Given the description of an element on the screen output the (x, y) to click on. 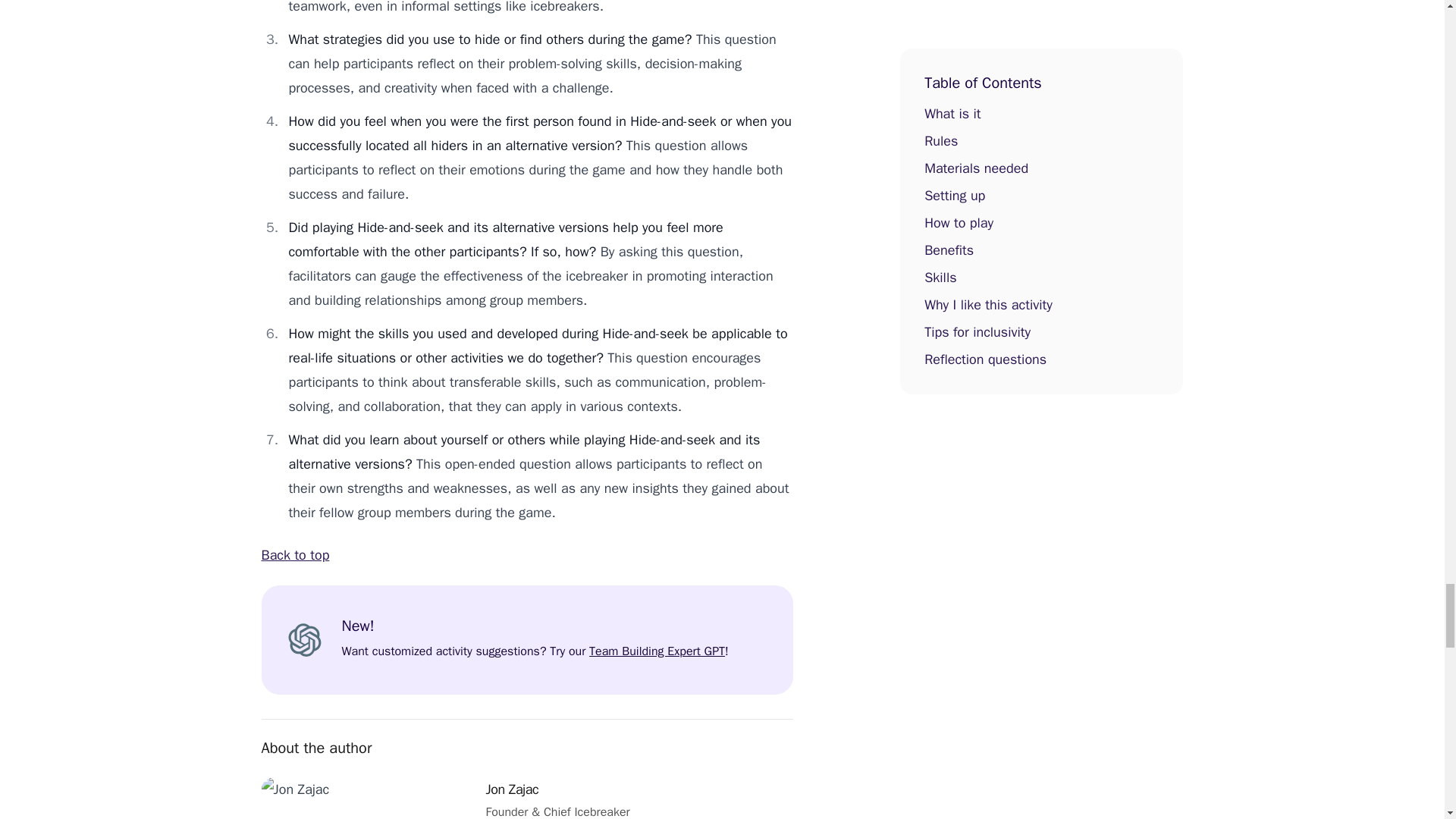
Jon Zajac (511, 789)
Team Building Expert GPT (657, 651)
Back to top (294, 555)
